Given the description of an element on the screen output the (x, y) to click on. 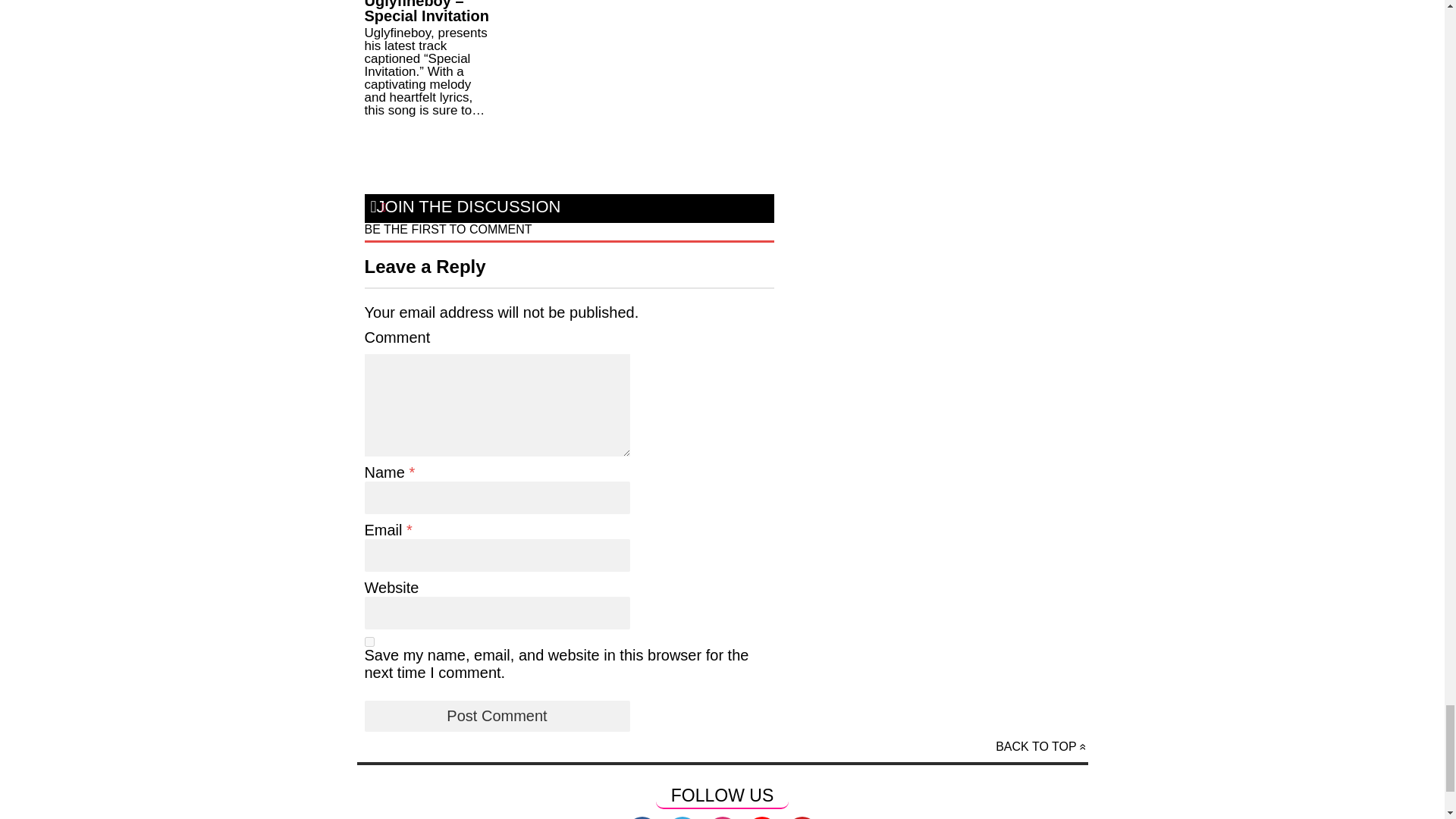
Post Comment (496, 716)
yes (369, 642)
